Given the description of an element on the screen output the (x, y) to click on. 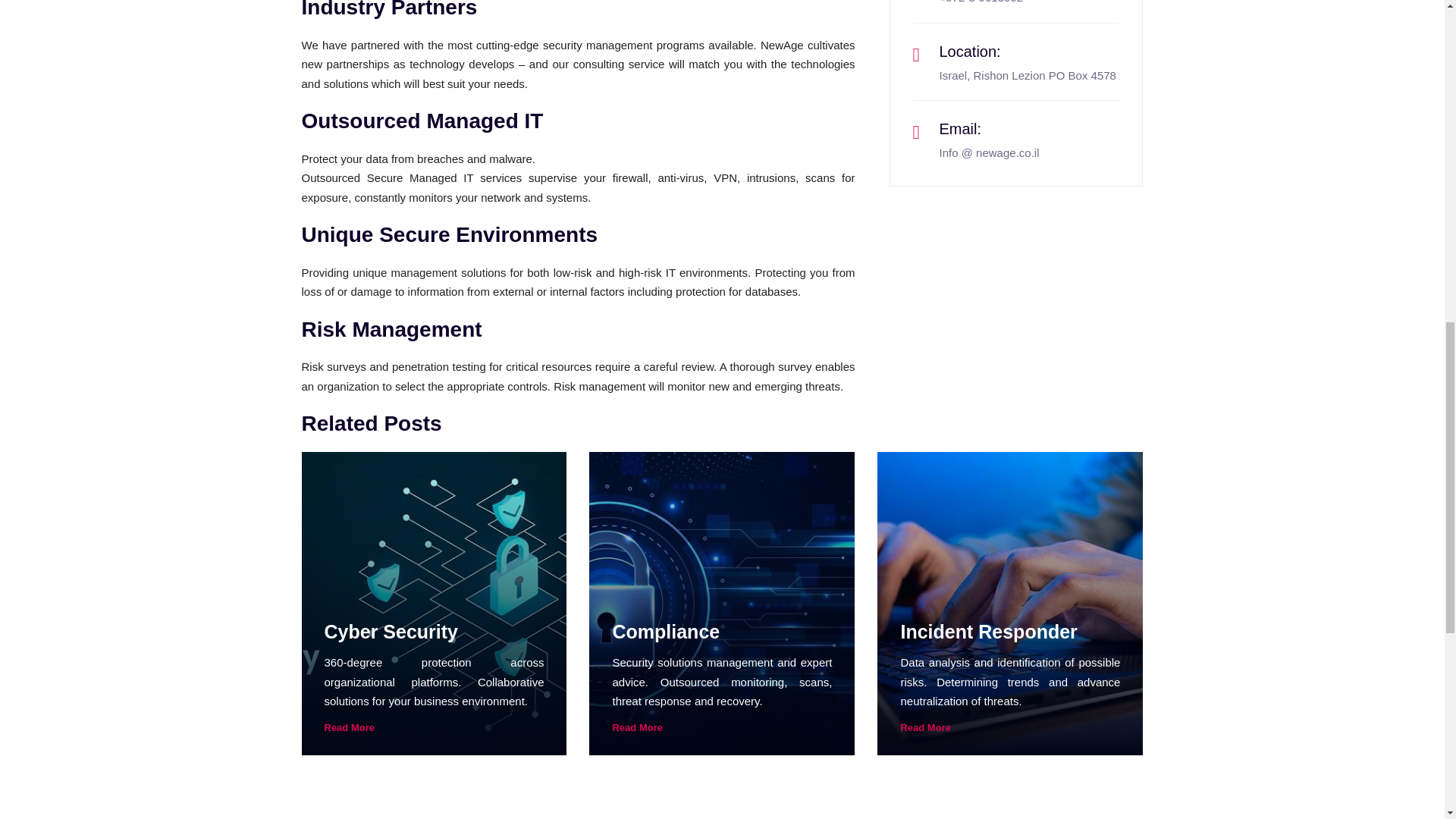
Read More (434, 727)
Read More (1009, 727)
Read More (721, 727)
